Given the description of an element on the screen output the (x, y) to click on. 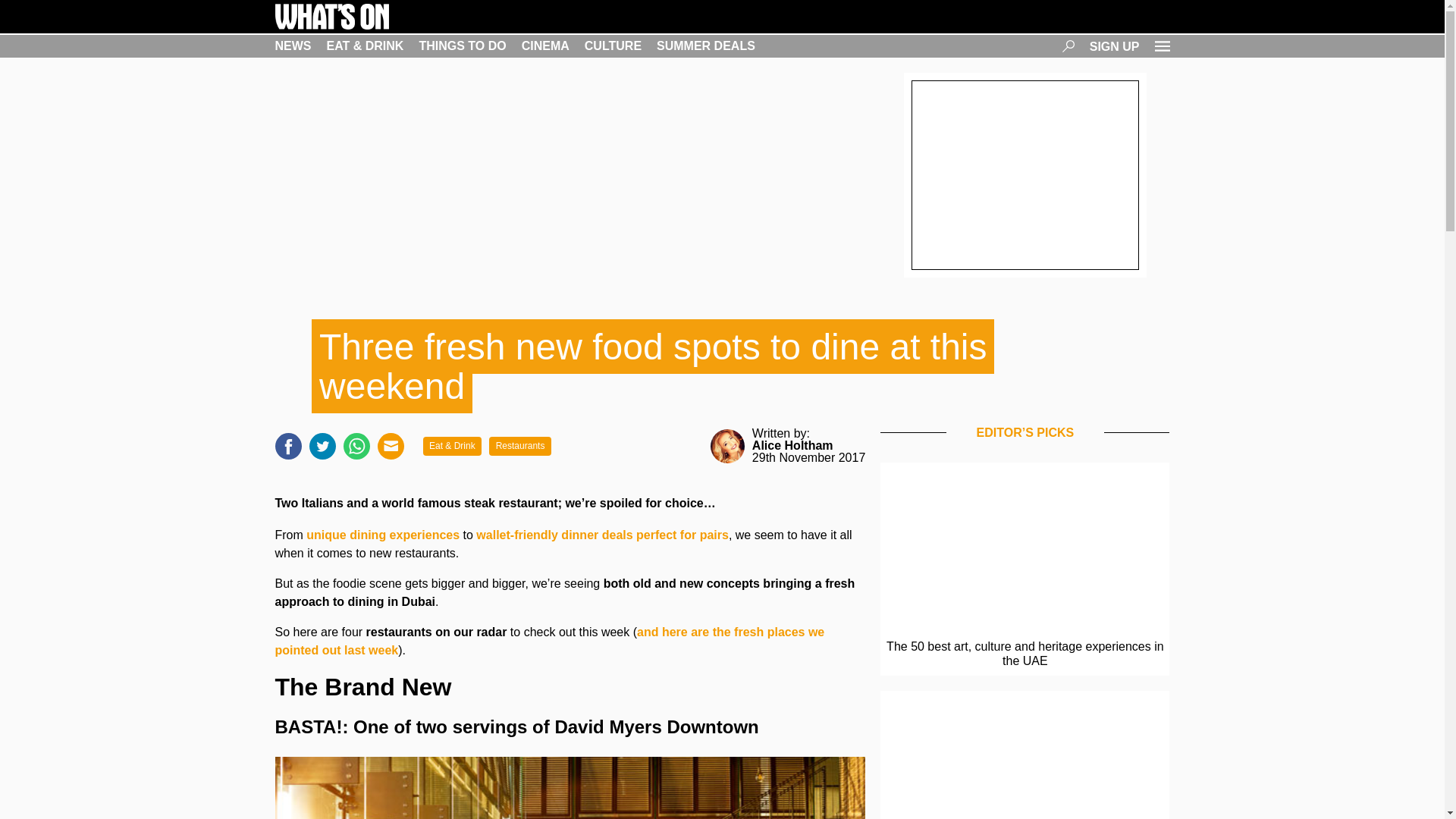
CINEMA (545, 45)
SIGN UP (1114, 45)
NEWS (293, 45)
SUMMER DEALS (705, 45)
CULTURE (613, 45)
THINGS TO DO (462, 45)
